Given the description of an element on the screen output the (x, y) to click on. 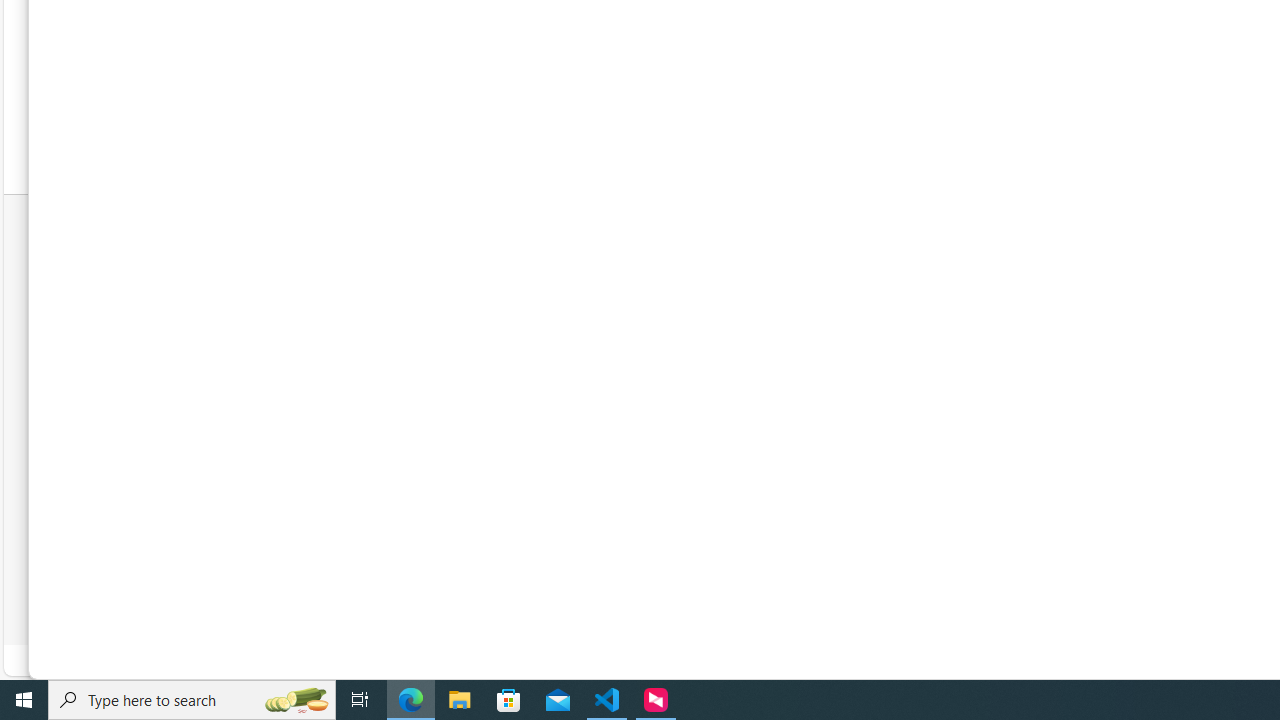
eBay Money Back Guarantee (714, 312)
eBay Money Back Guarantee (724, 312)
Buy (647, 263)
Developers (981, 402)
Registration (724, 288)
Sell (902, 263)
Stores (724, 360)
Site map (915, 450)
Learn to sell (981, 312)
Privacy (1072, 597)
User Agreement (1009, 597)
Bidding & buying help (724, 335)
Twitter (1176, 342)
Stores (653, 360)
Security center (932, 425)
